Given the description of an element on the screen output the (x, y) to click on. 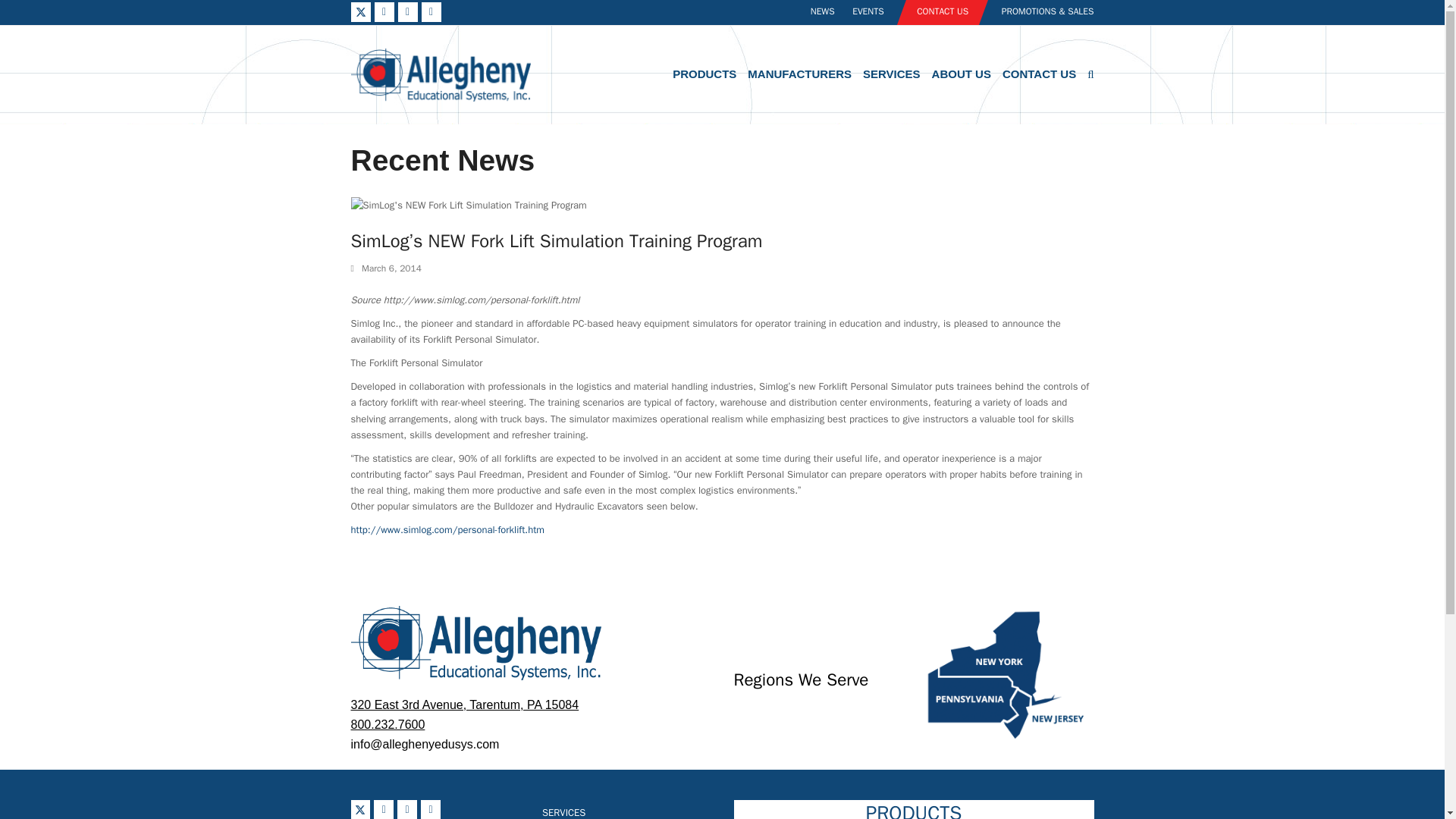
LinkedIn (430, 809)
PRODUCTS (704, 75)
NEWS (814, 10)
X Twitter (359, 809)
CONTACT US (937, 12)
EVENTS (860, 10)
Pinterest (406, 809)
Facebook (383, 809)
